Given the description of an element on the screen output the (x, y) to click on. 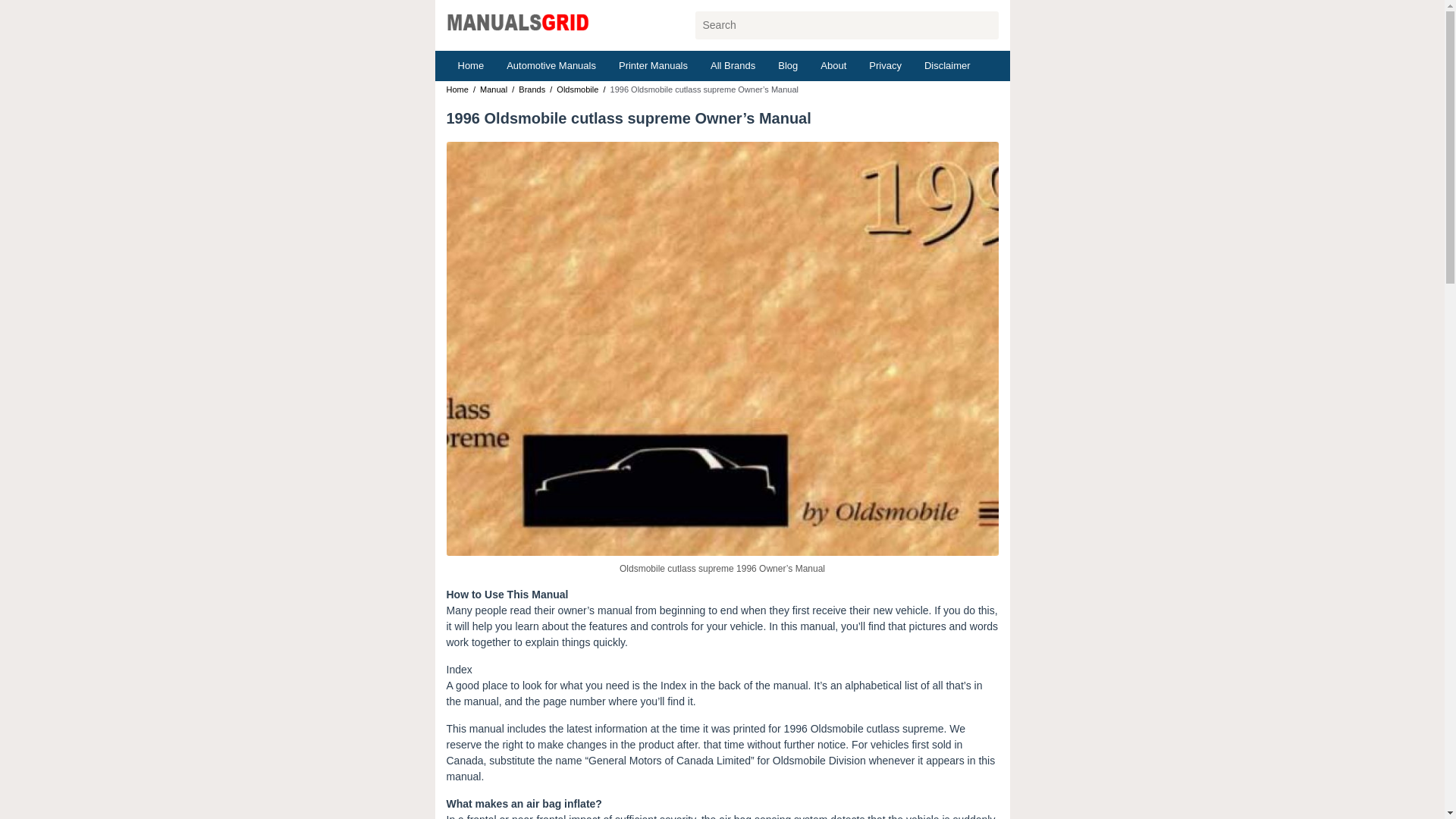
Blog (788, 65)
Home (470, 65)
Printer Manuals (652, 65)
Printer Manuals (652, 65)
All Brands (732, 65)
Disclaimer (946, 65)
All Brands (732, 65)
Privacy (884, 65)
Oldsmobile (577, 89)
About (833, 65)
Brands (531, 89)
Home (470, 65)
Blog (788, 65)
About (833, 65)
Disclaimer (946, 65)
